Given the description of an element on the screen output the (x, y) to click on. 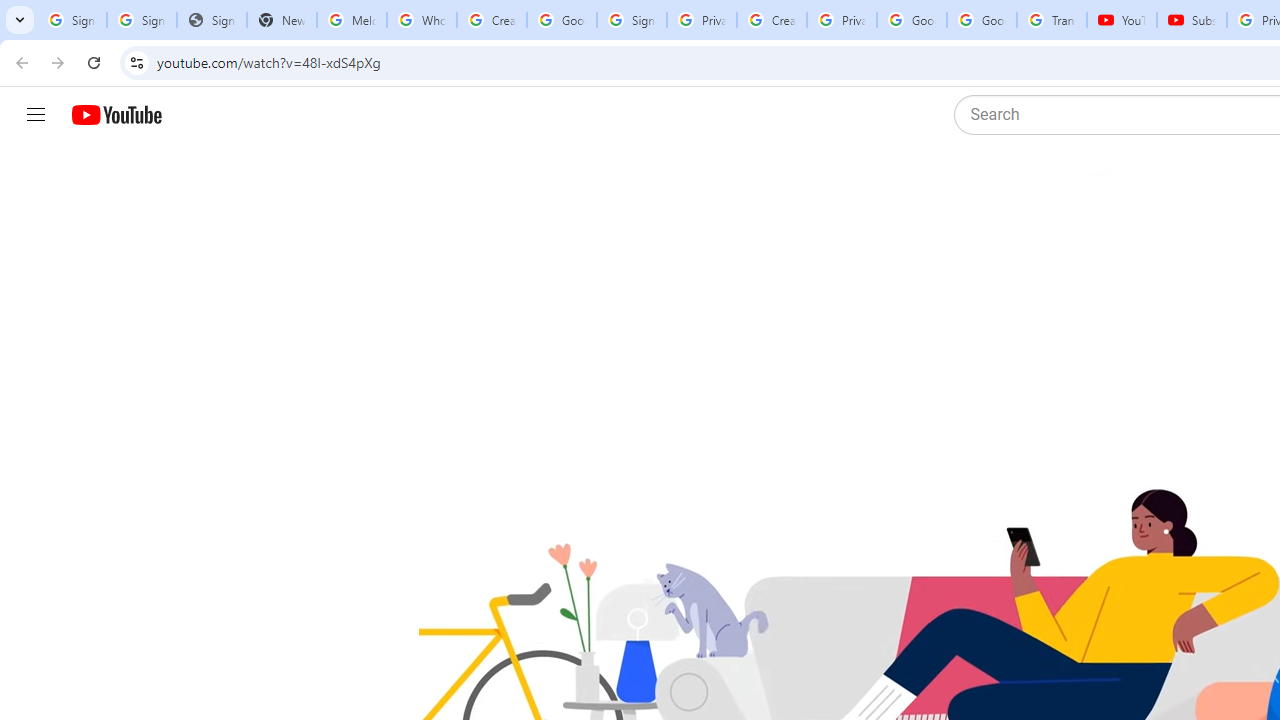
Subscriptions - YouTube (1192, 20)
Create your Google Account (492, 20)
Sign in - Google Accounts (631, 20)
Sign in - Google Accounts (141, 20)
New Tab (282, 20)
YouTube Home (116, 115)
